Given the description of an element on the screen output the (x, y) to click on. 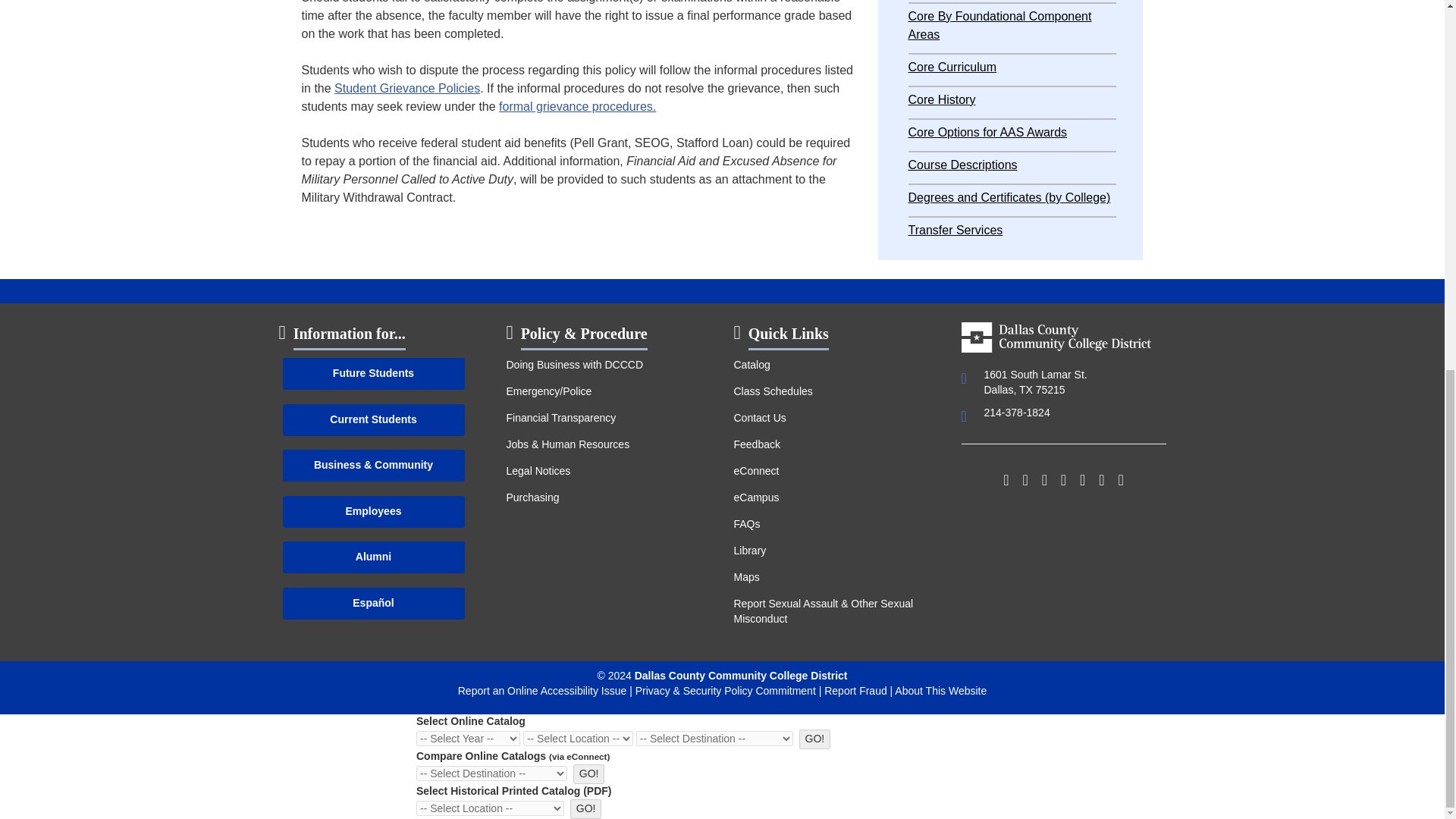
Core History (941, 99)
Student Grievance Policies (407, 88)
Course Descriptions (962, 164)
formal grievance procedures. (577, 106)
Core Curriculum (951, 66)
Core Options for AAS Awards (987, 132)
Core By Foundational Component Areas (1000, 24)
